Given the description of an element on the screen output the (x, y) to click on. 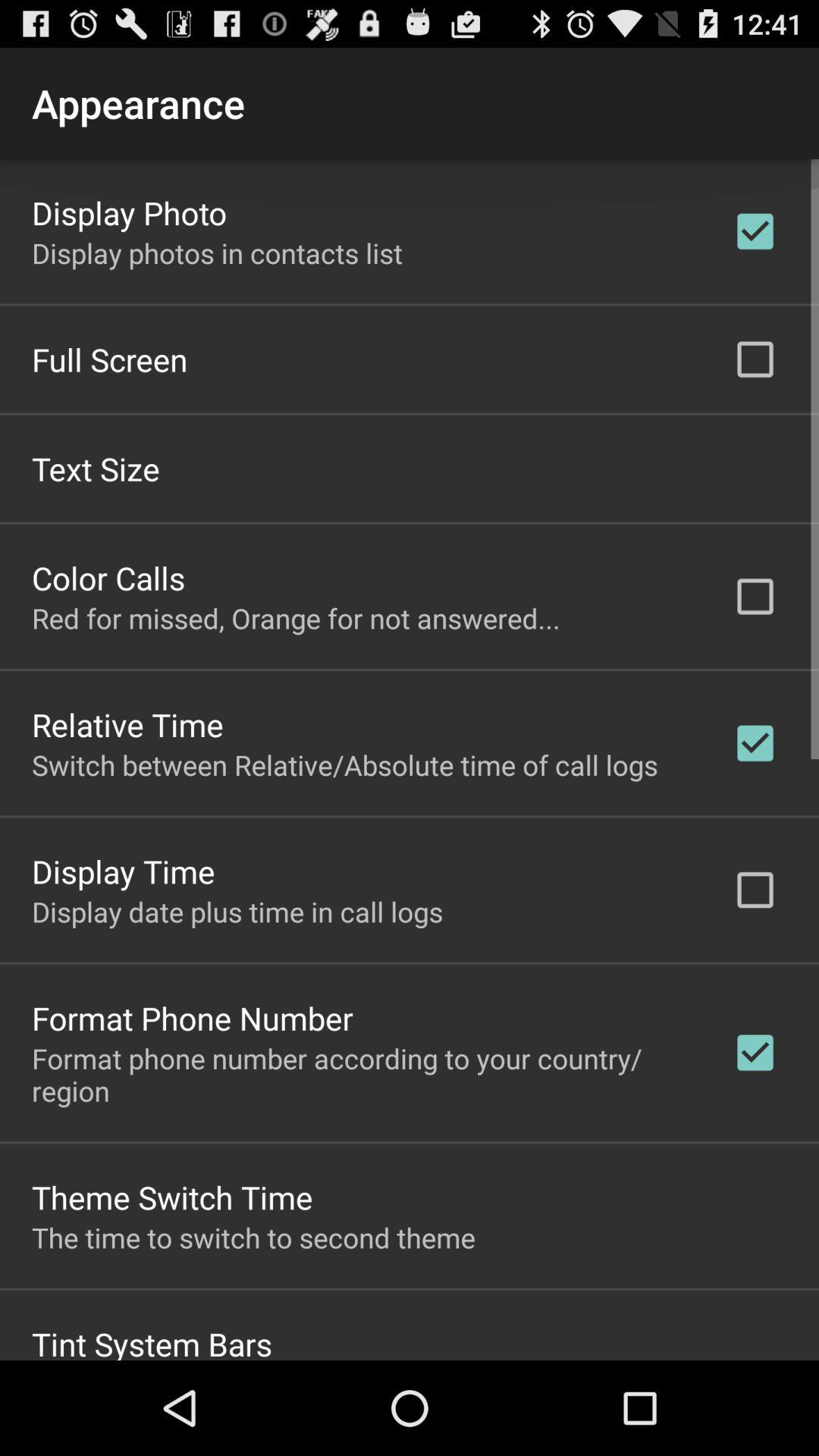
select the display date plus app (237, 910)
